Given the description of an element on the screen output the (x, y) to click on. 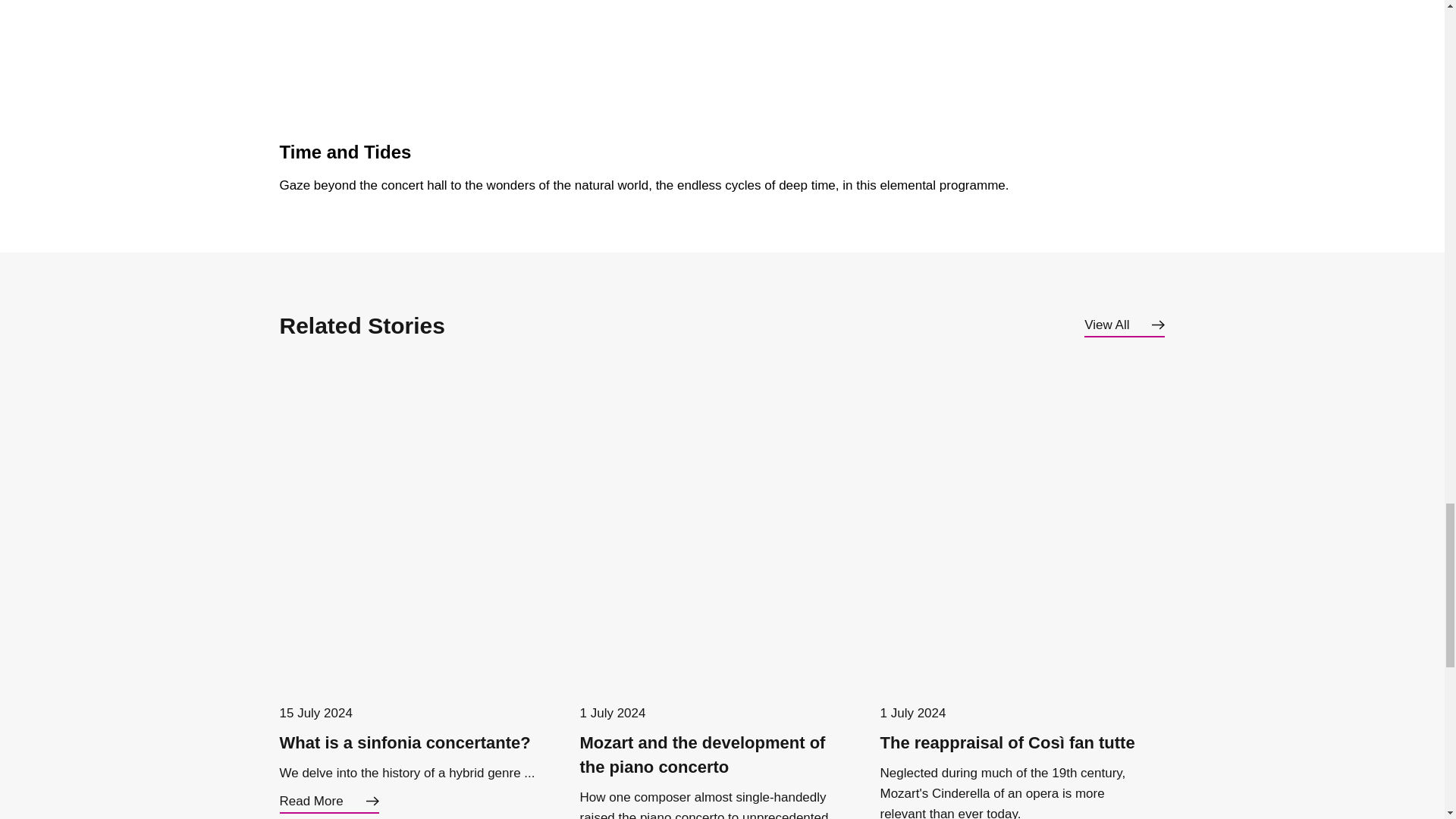
View All (1124, 325)
